Given the description of an element on the screen output the (x, y) to click on. 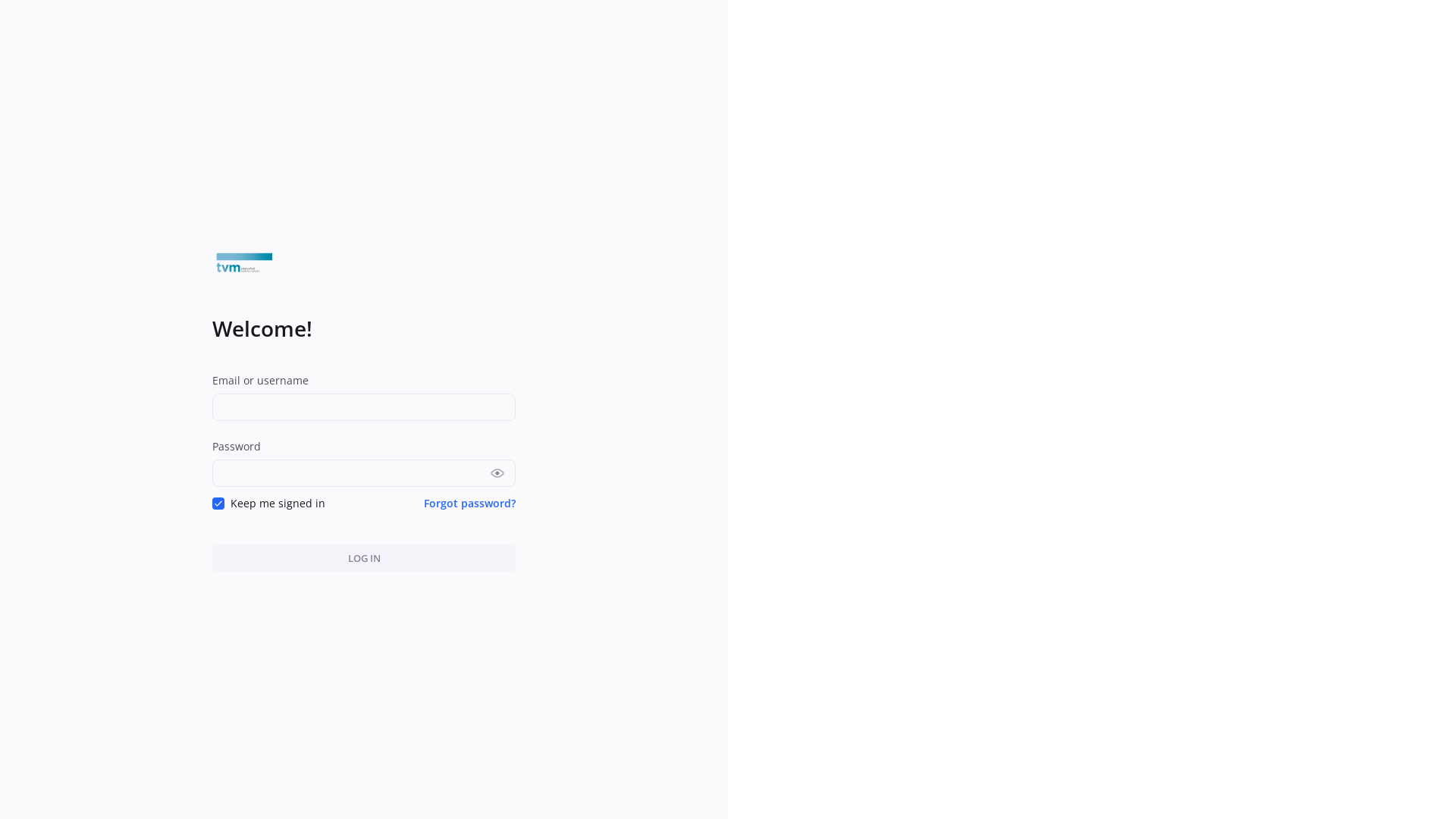
Forgot password? Element type: text (469, 502)
LOG IN Element type: text (363, 557)
